Given the description of an element on the screen output the (x, y) to click on. 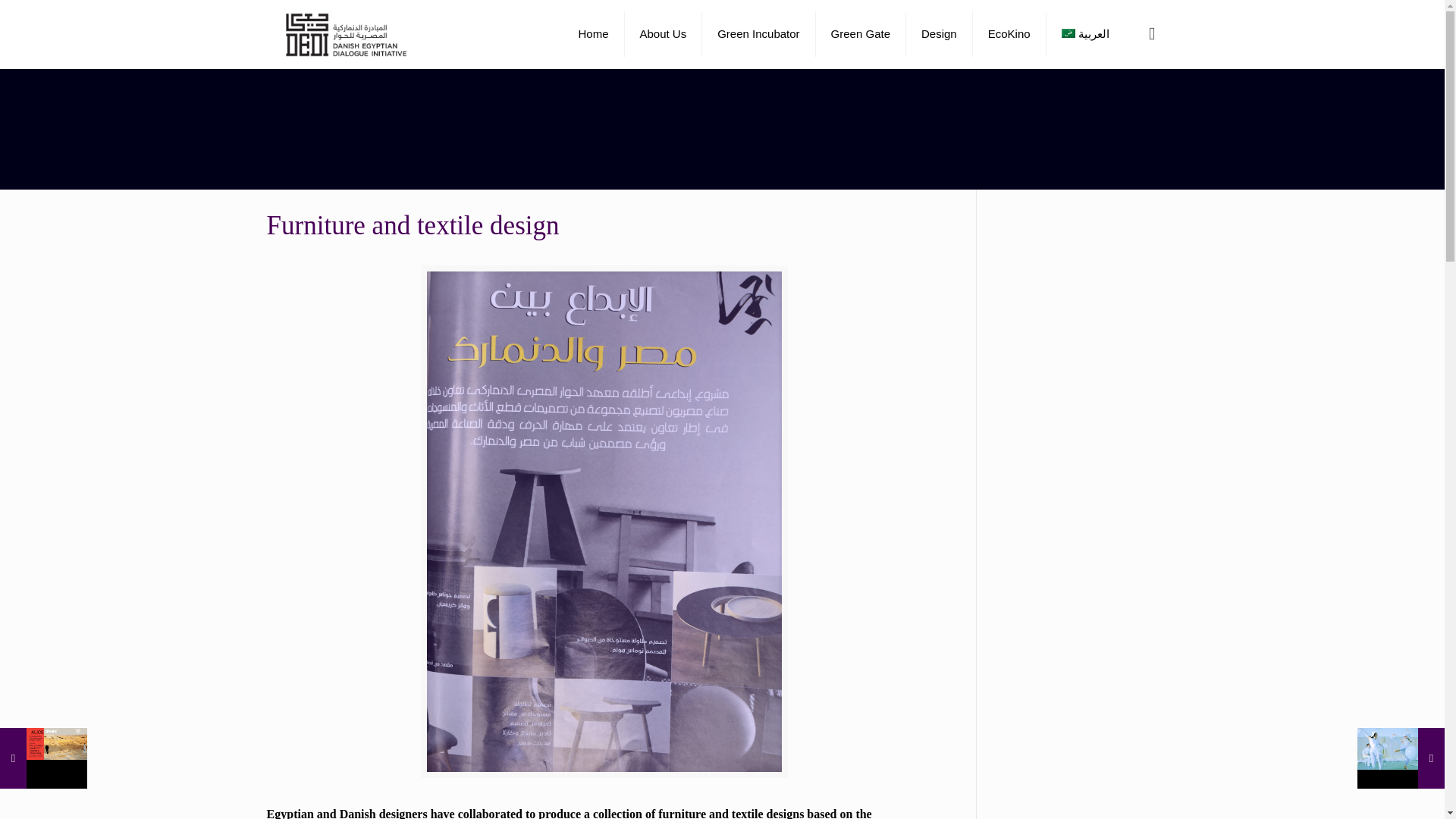
DEDI (352, 33)
EcoKino (1009, 33)
Home (593, 33)
Green Incubator (758, 33)
Green Gate (860, 33)
Design (938, 33)
About Us (663, 33)
